Given the description of an element on the screen output the (x, y) to click on. 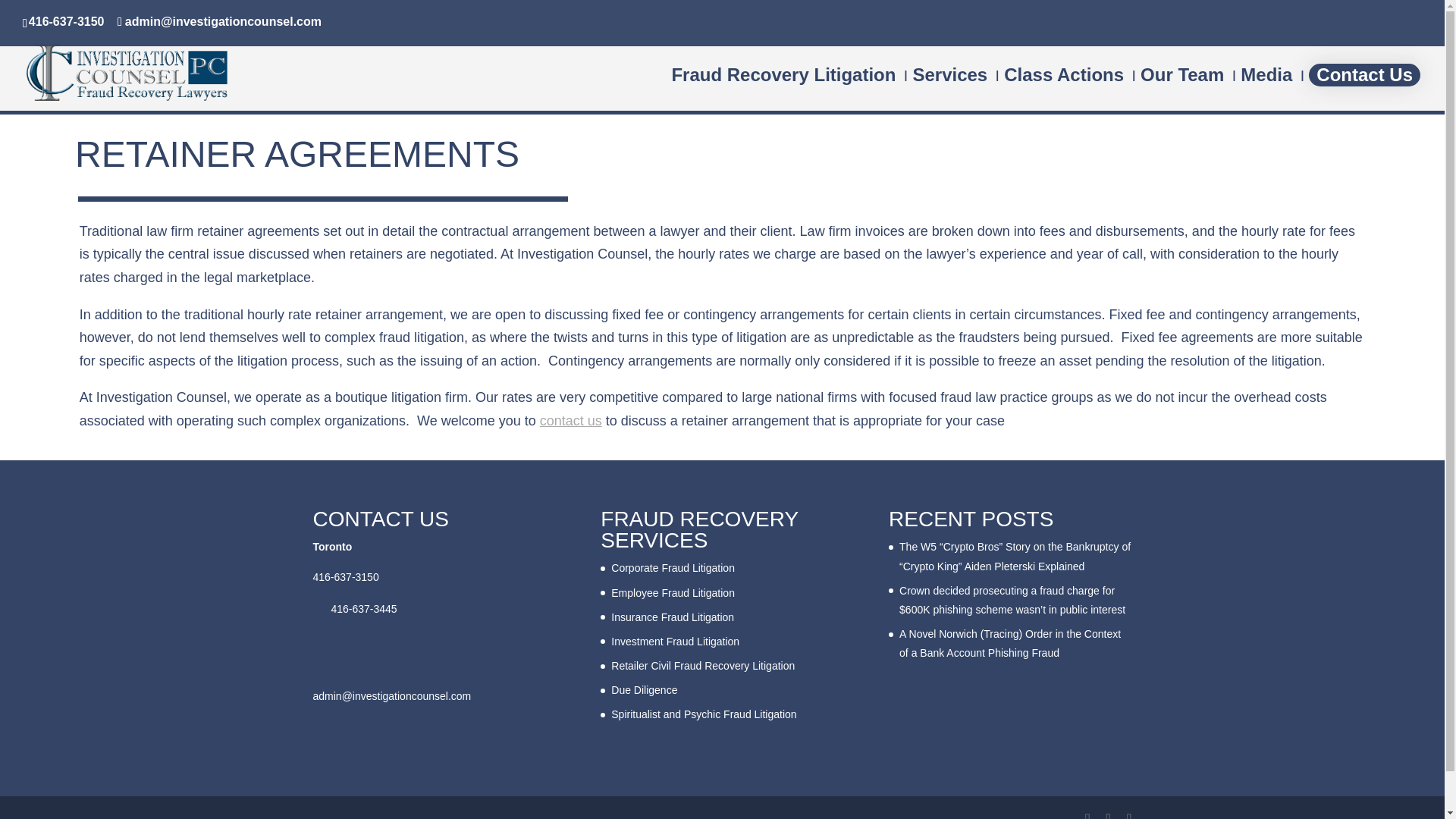
Fraud Recovery Litigation (783, 89)
Class Actions (1064, 89)
Services (949, 89)
Contact Investigation Counsel  (571, 420)
